Given the description of an element on the screen output the (x, y) to click on. 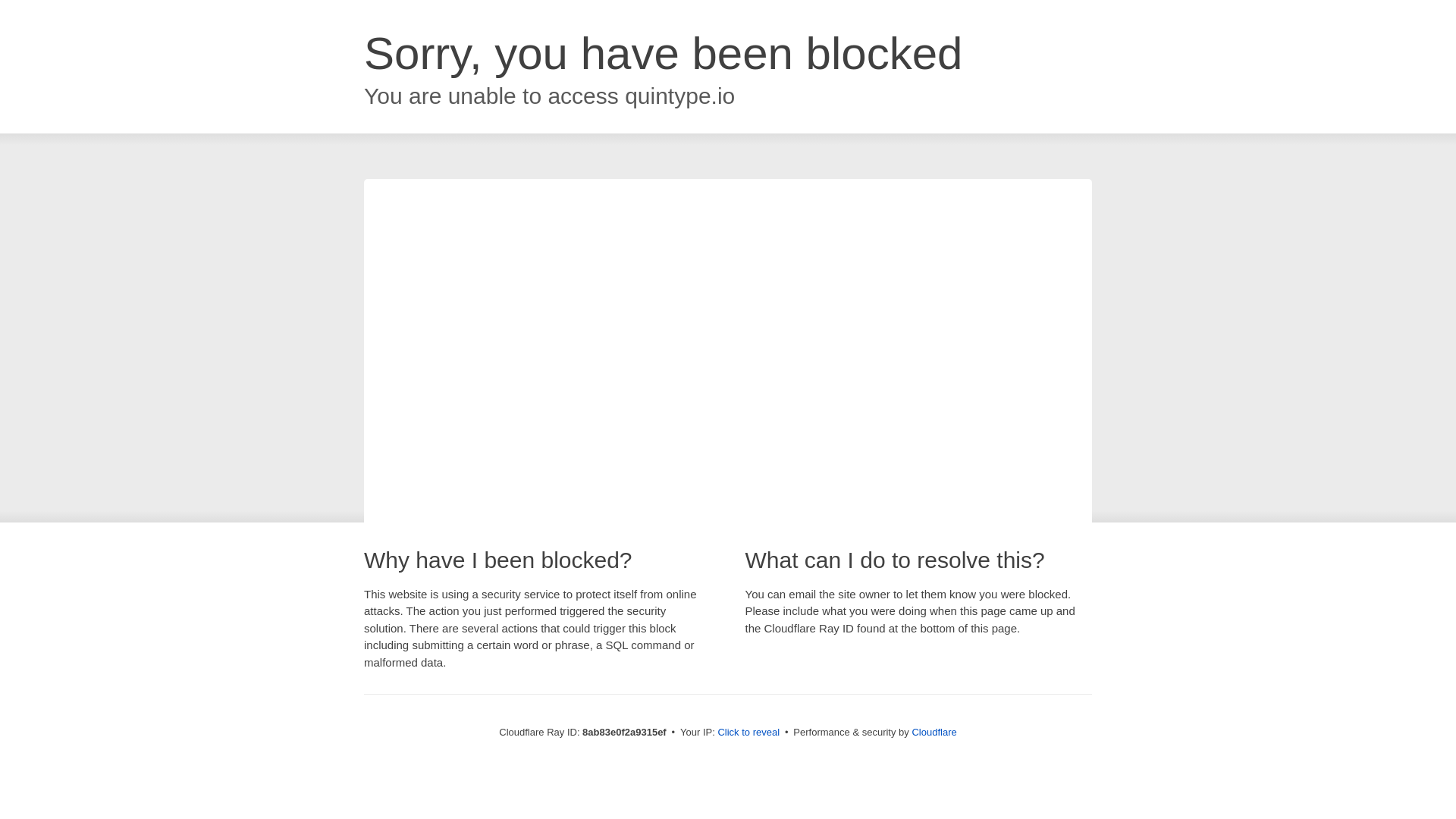
Click to reveal (747, 732)
Cloudflare (933, 731)
